Given the description of an element on the screen output the (x, y) to click on. 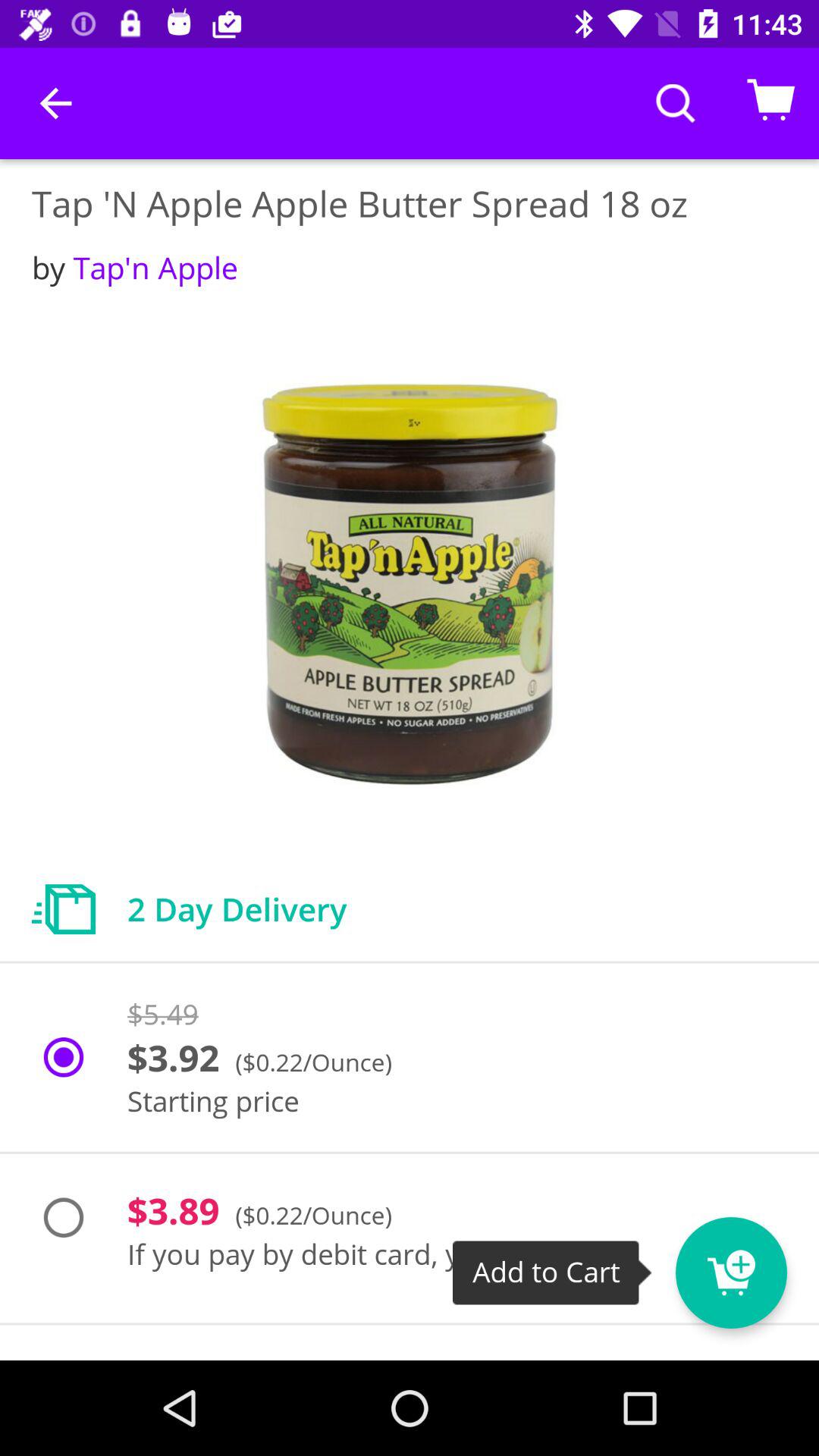
turn off the icon to the right of if you pay icon (759, 1263)
